Given the description of an element on the screen output the (x, y) to click on. 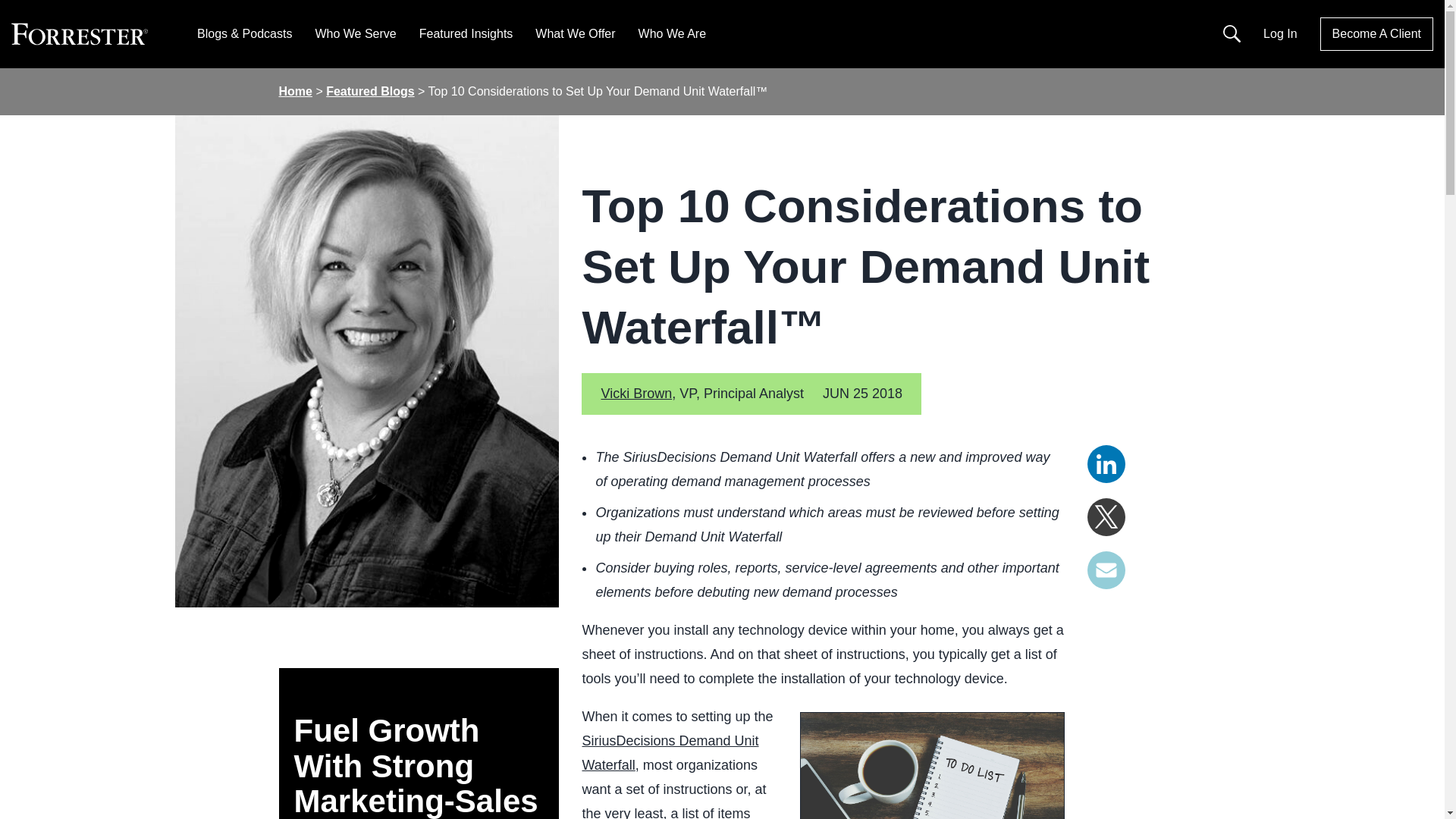
Featured Insights (466, 33)
Posts by Vicki Brown (635, 392)
Who We Serve (355, 33)
What We Offer (574, 33)
